Given the description of an element on the screen output the (x, y) to click on. 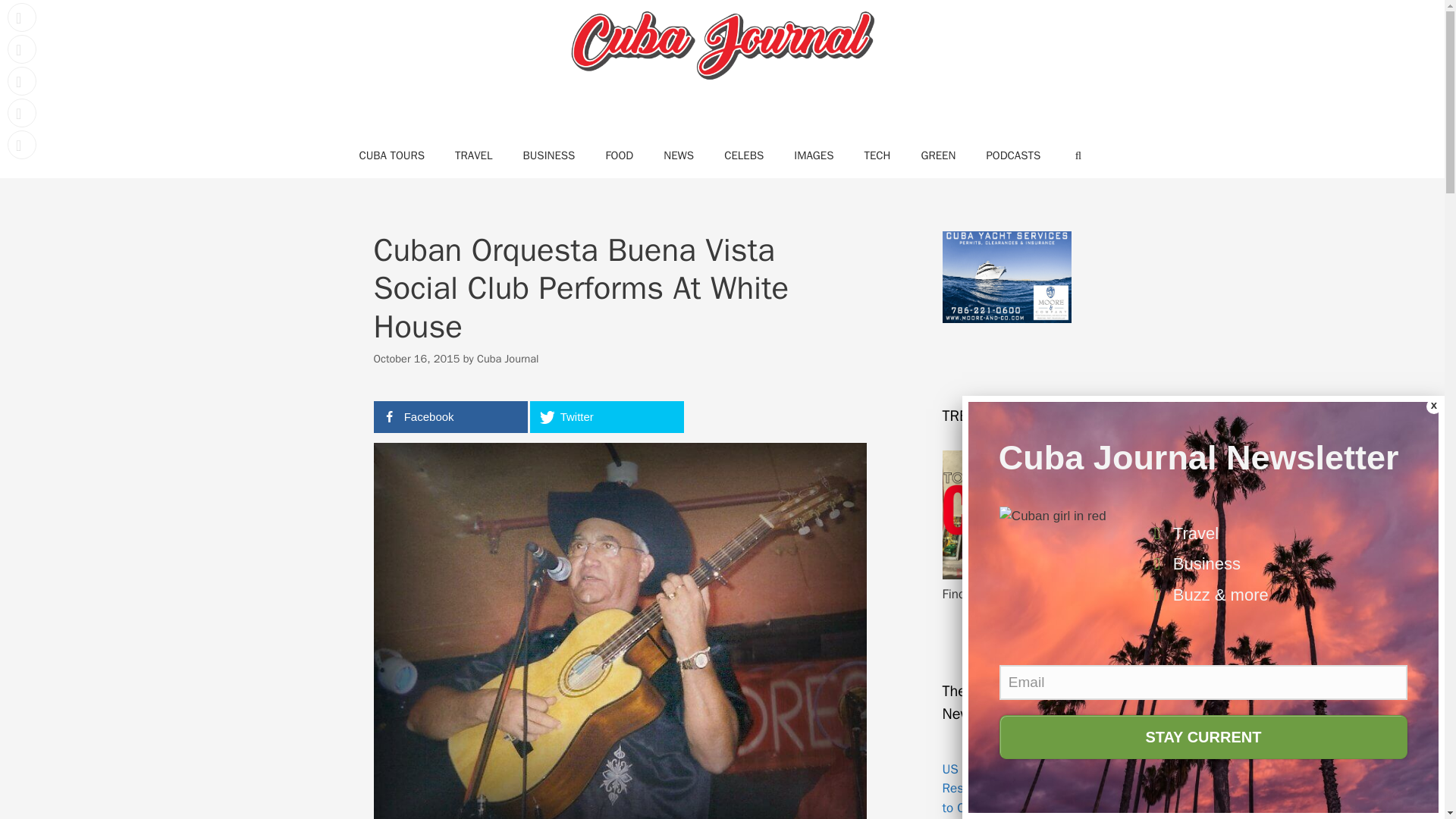
View all posts by Cuba Journal (507, 358)
Cuba Journal (721, 46)
Close (1433, 406)
IMAGES (813, 155)
Twitter (605, 417)
NEWS (678, 155)
GREEN (938, 155)
TRENDING (1006, 575)
PODCASTS (1013, 155)
CUBA TOURS (391, 155)
Facebook (449, 417)
Cuba Journal (507, 358)
TECH (876, 155)
TRAVEL (472, 155)
FOOD (618, 155)
